Given the description of an element on the screen output the (x, y) to click on. 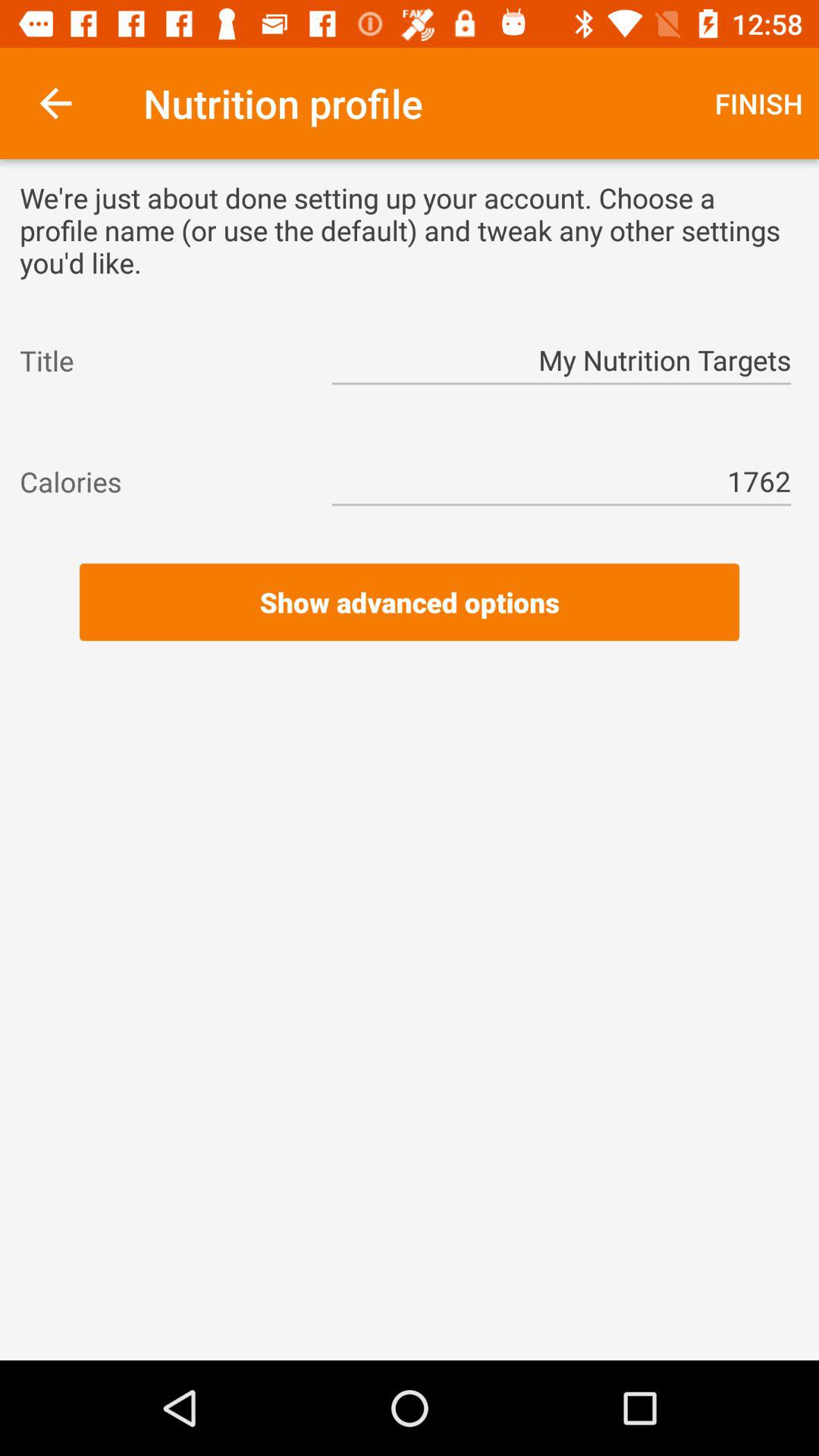
click the icon next to nutrition profile item (758, 103)
